Given the description of an element on the screen output the (x, y) to click on. 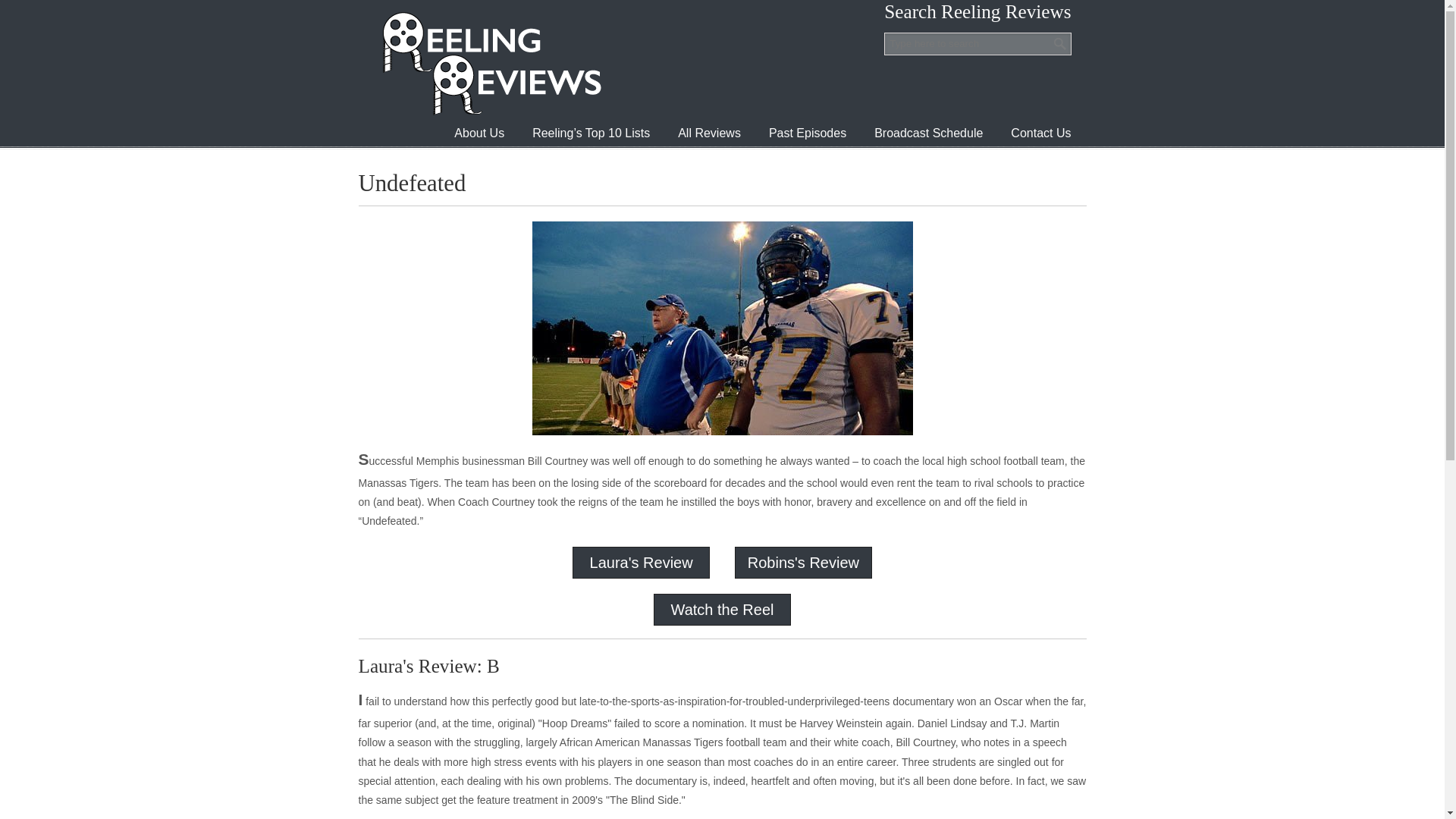
About Us (479, 133)
Watch the Reel (721, 609)
Contact Us (1040, 133)
Broadcast Schedule (928, 133)
Past Episodes (807, 133)
Reeling Reviews (489, 63)
Reeling Reviews (489, 63)
All Reviews (708, 133)
Robins's Review (803, 562)
Laura's Review (641, 562)
